Given the description of an element on the screen output the (x, y) to click on. 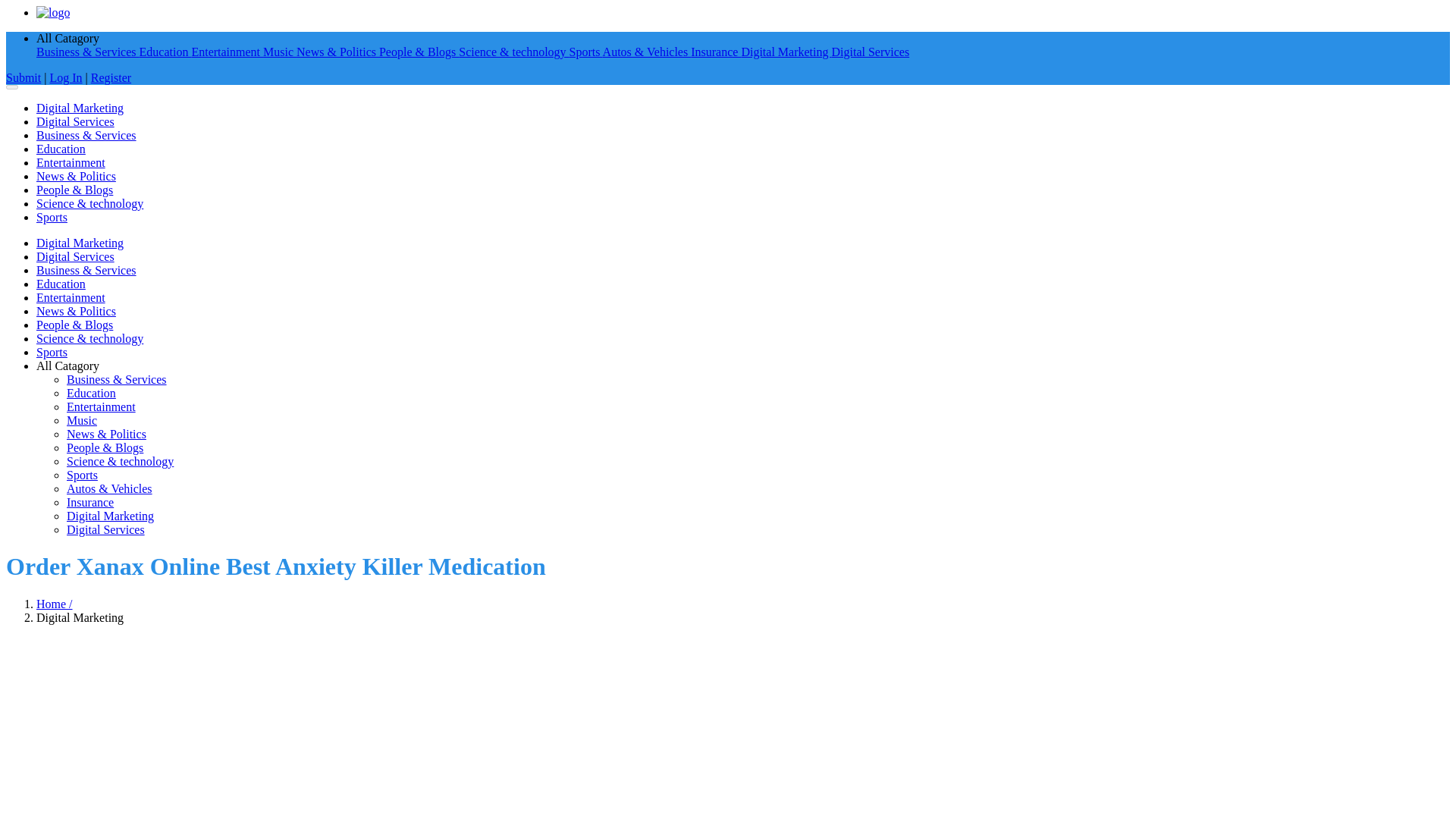
Digital Marketing (79, 107)
Entertainment (226, 51)
Education (165, 51)
Education (60, 283)
Register (110, 77)
Sports (585, 51)
Sports (51, 216)
Education (60, 148)
All Catagory (67, 38)
Education (91, 392)
